Given the description of an element on the screen output the (x, y) to click on. 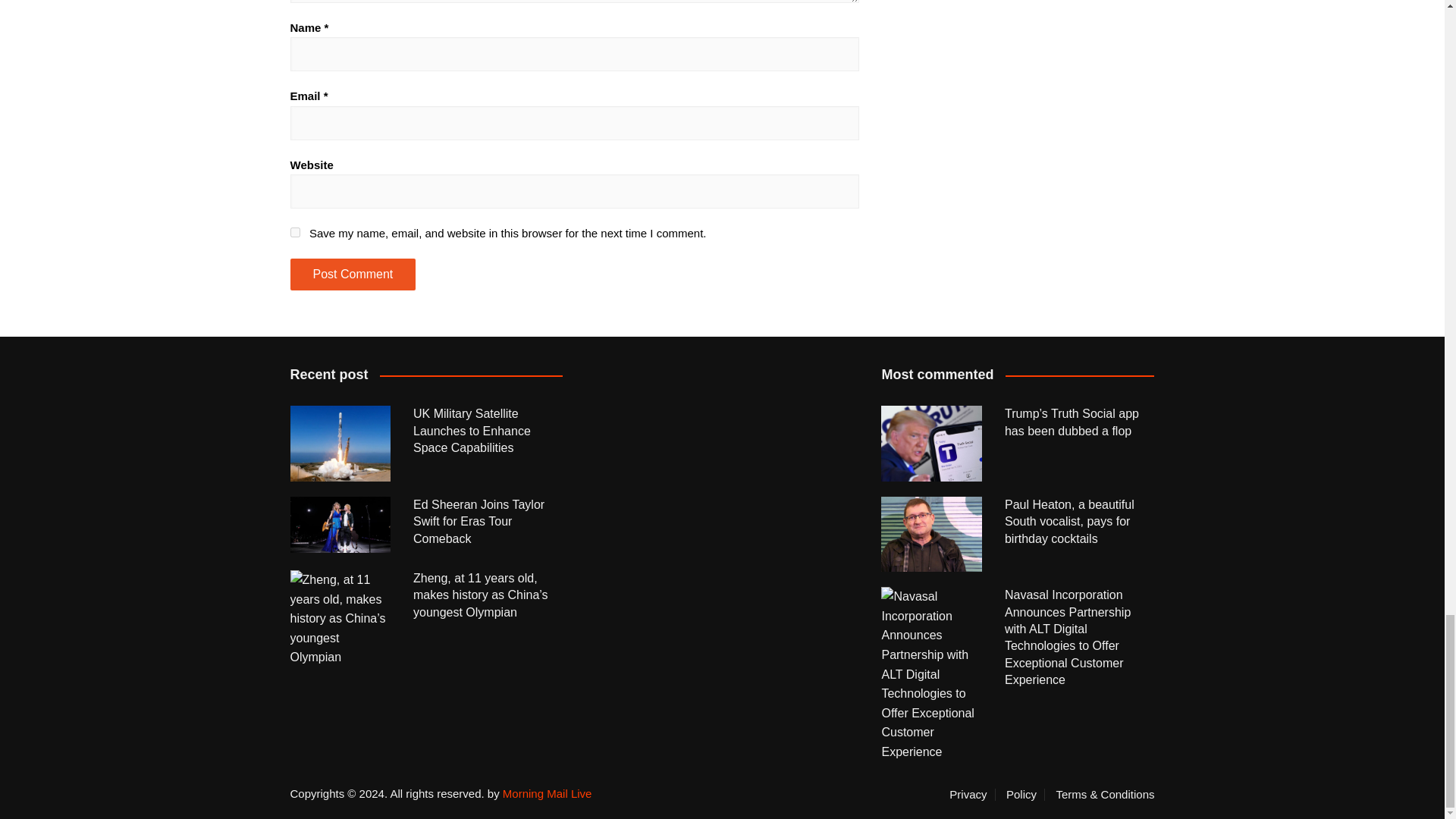
yes (294, 232)
Post Comment (351, 274)
Post Comment (351, 274)
